Given the description of an element on the screen output the (x, y) to click on. 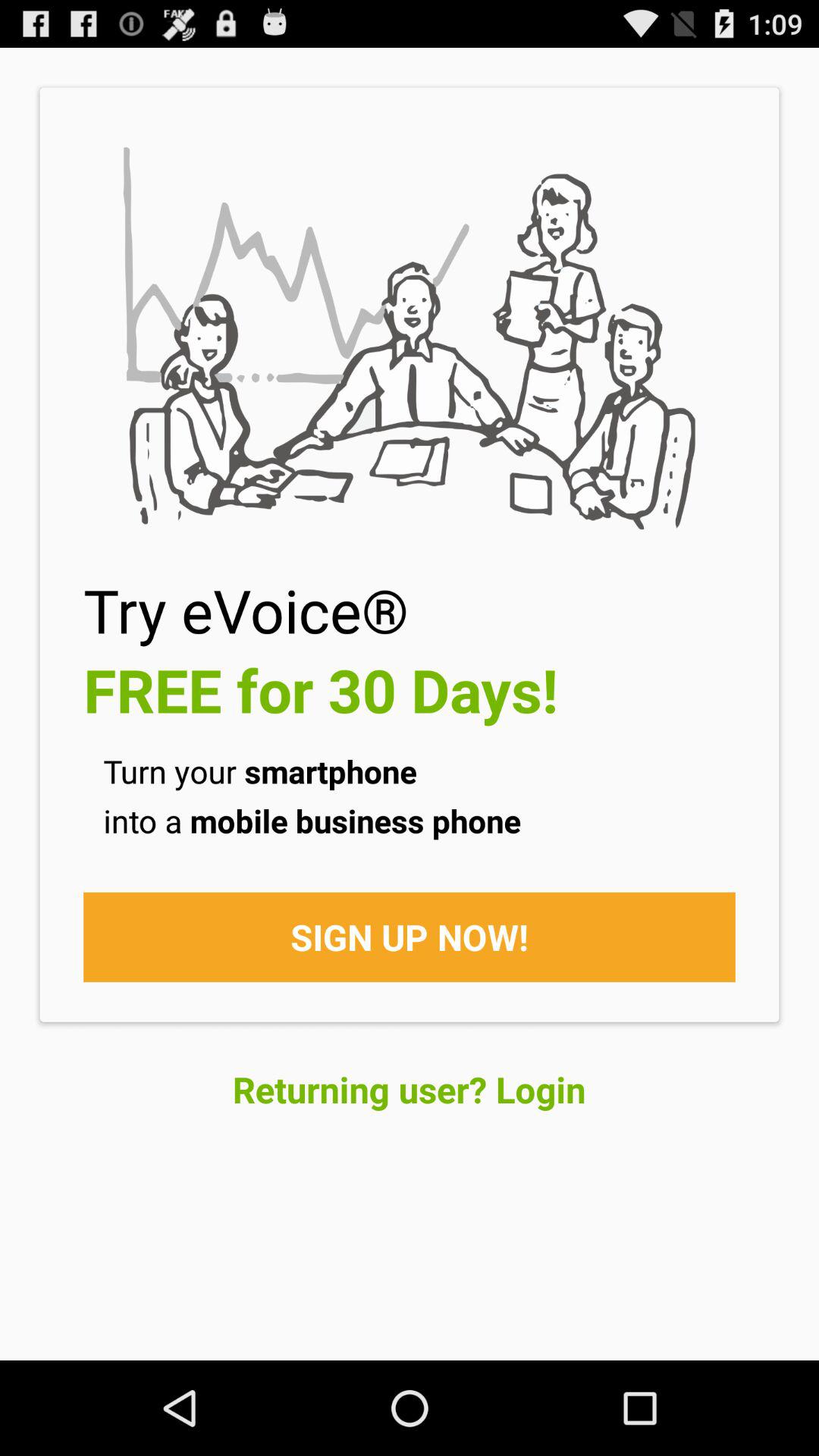
choose the item below the sign up now! item (409, 1089)
